Given the description of an element on the screen output the (x, y) to click on. 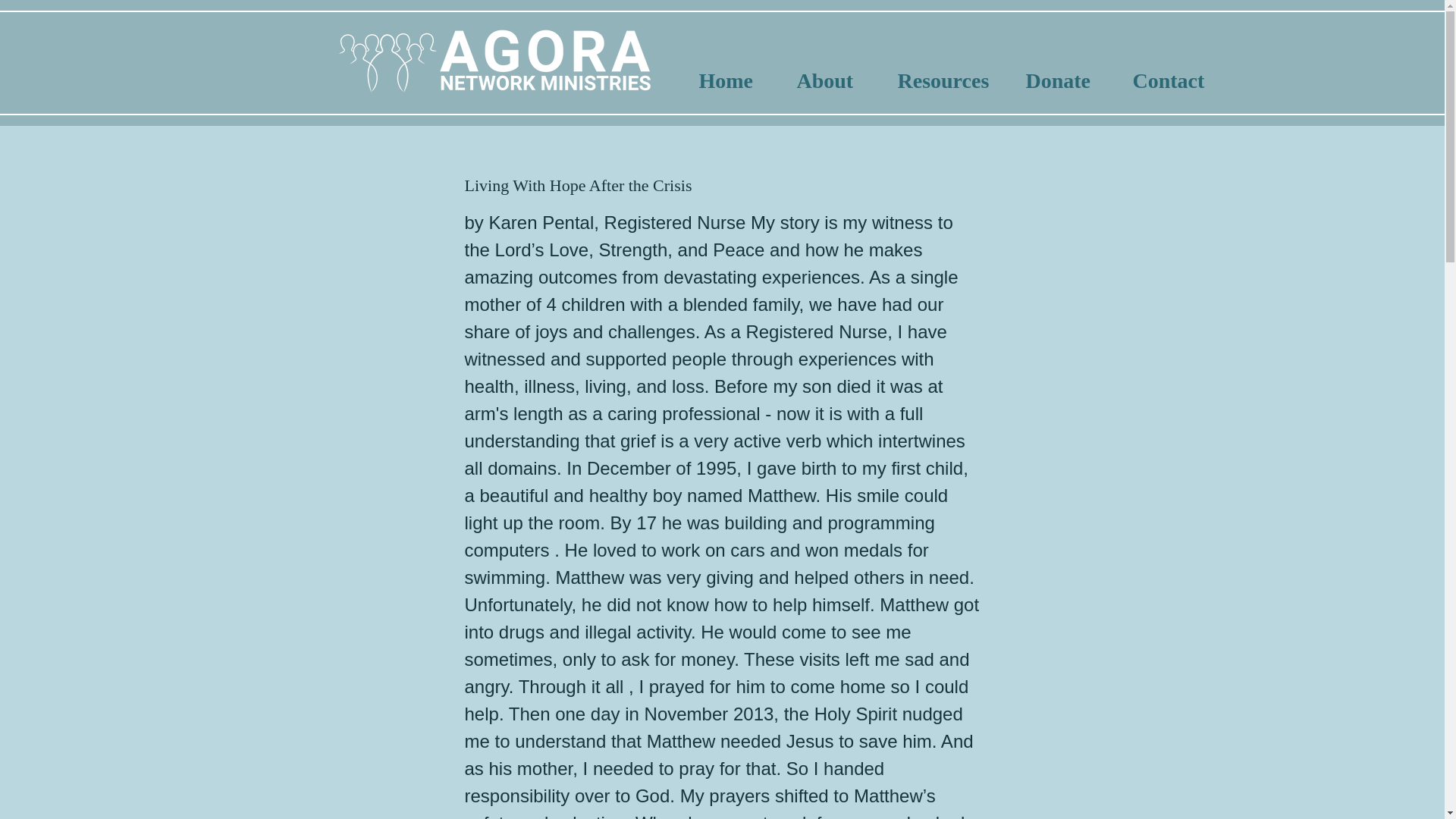
Home (740, 81)
Contact (1182, 81)
About (839, 81)
Donate (1070, 81)
